Given the description of an element on the screen output the (x, y) to click on. 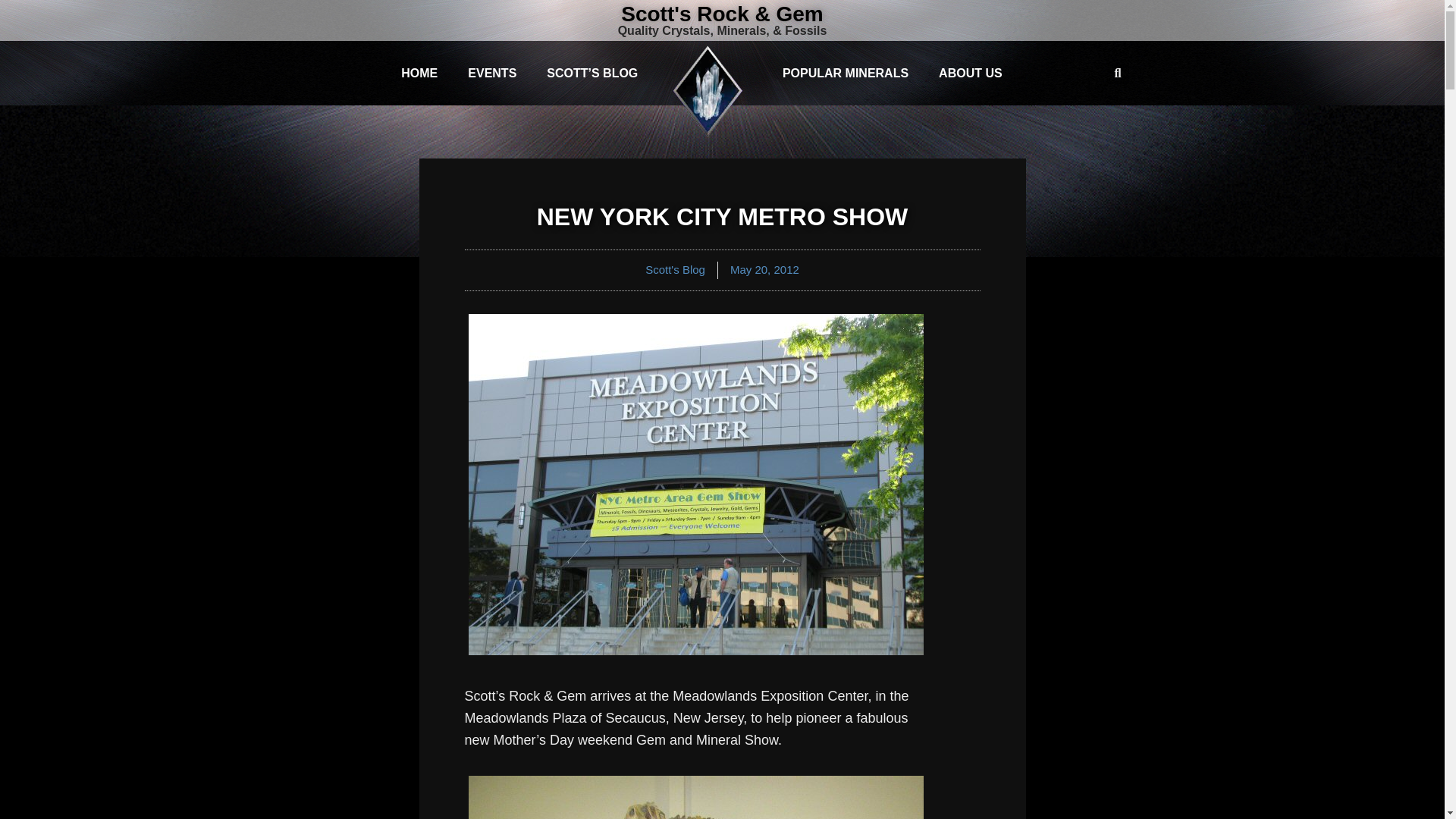
Scott's Blog (674, 269)
POPULAR MINERALS (845, 73)
HOME (418, 73)
EVENTS (491, 73)
ABOUT US (970, 73)
May 20, 2012 (764, 270)
